Given the description of an element on the screen output the (x, y) to click on. 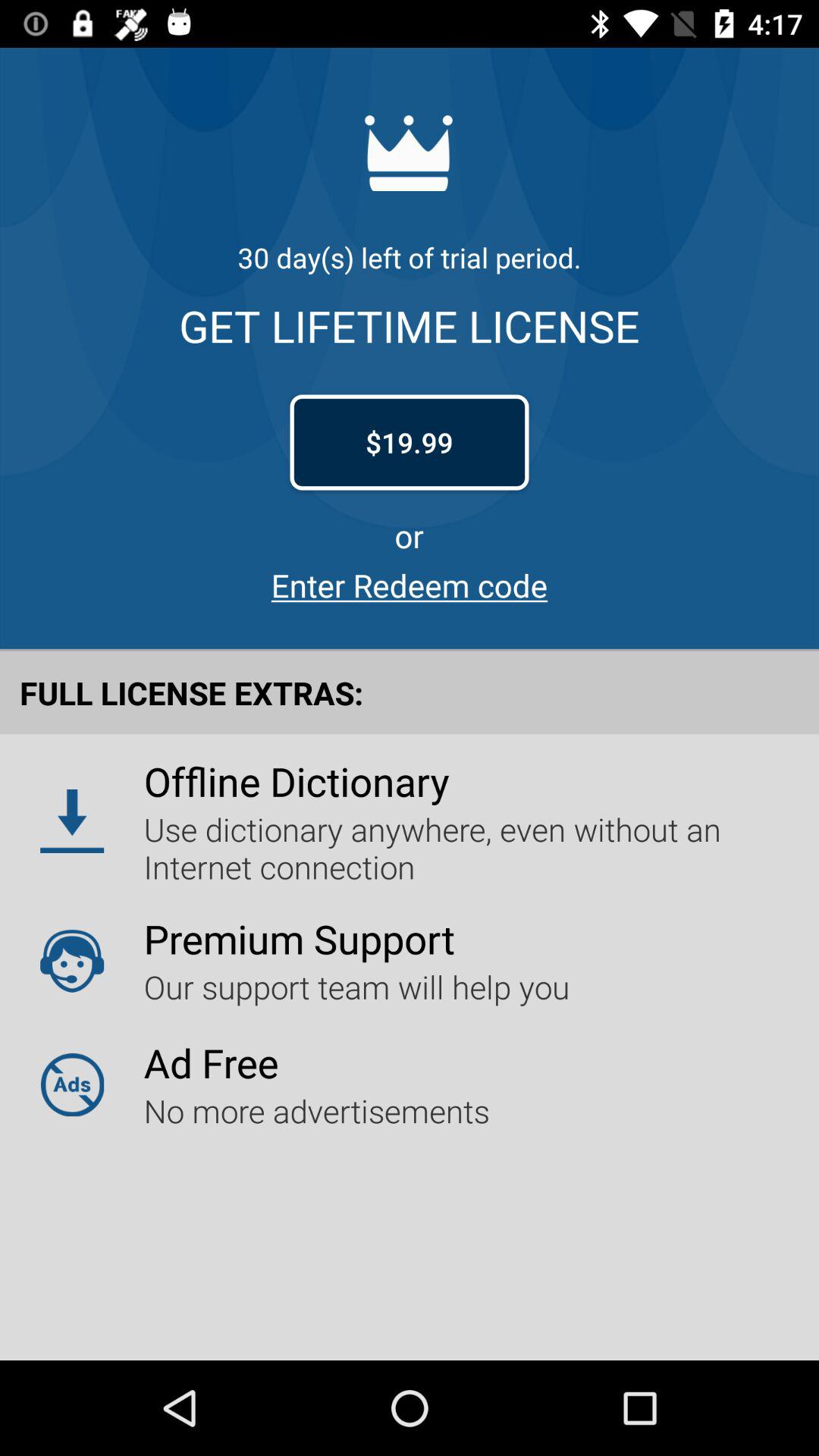
flip until the enter redeem code app (409, 584)
